Given the description of an element on the screen output the (x, y) to click on. 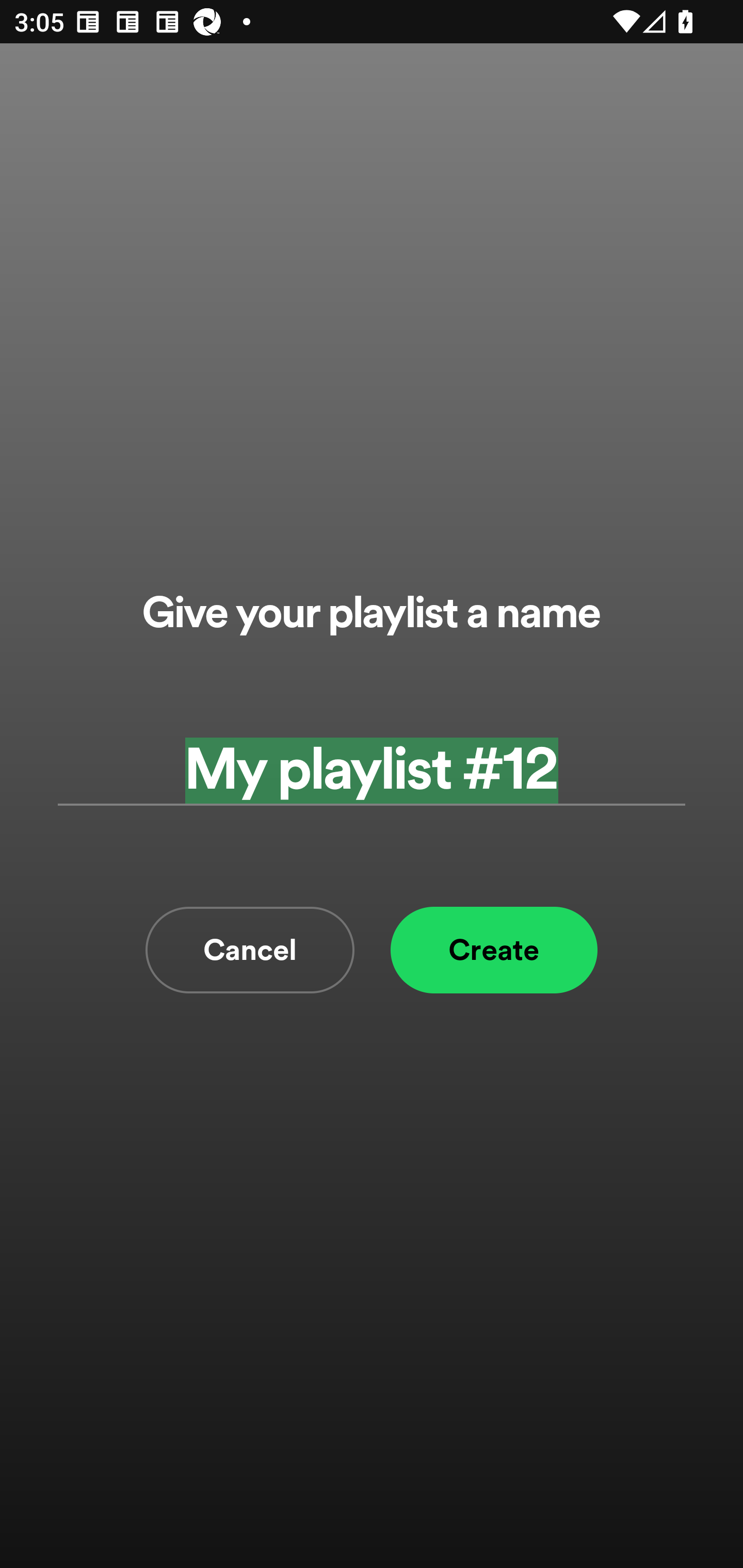
My playlist #12 Add a playlist name (371, 769)
Cancel (249, 950)
Create (493, 950)
